Given the description of an element on the screen output the (x, y) to click on. 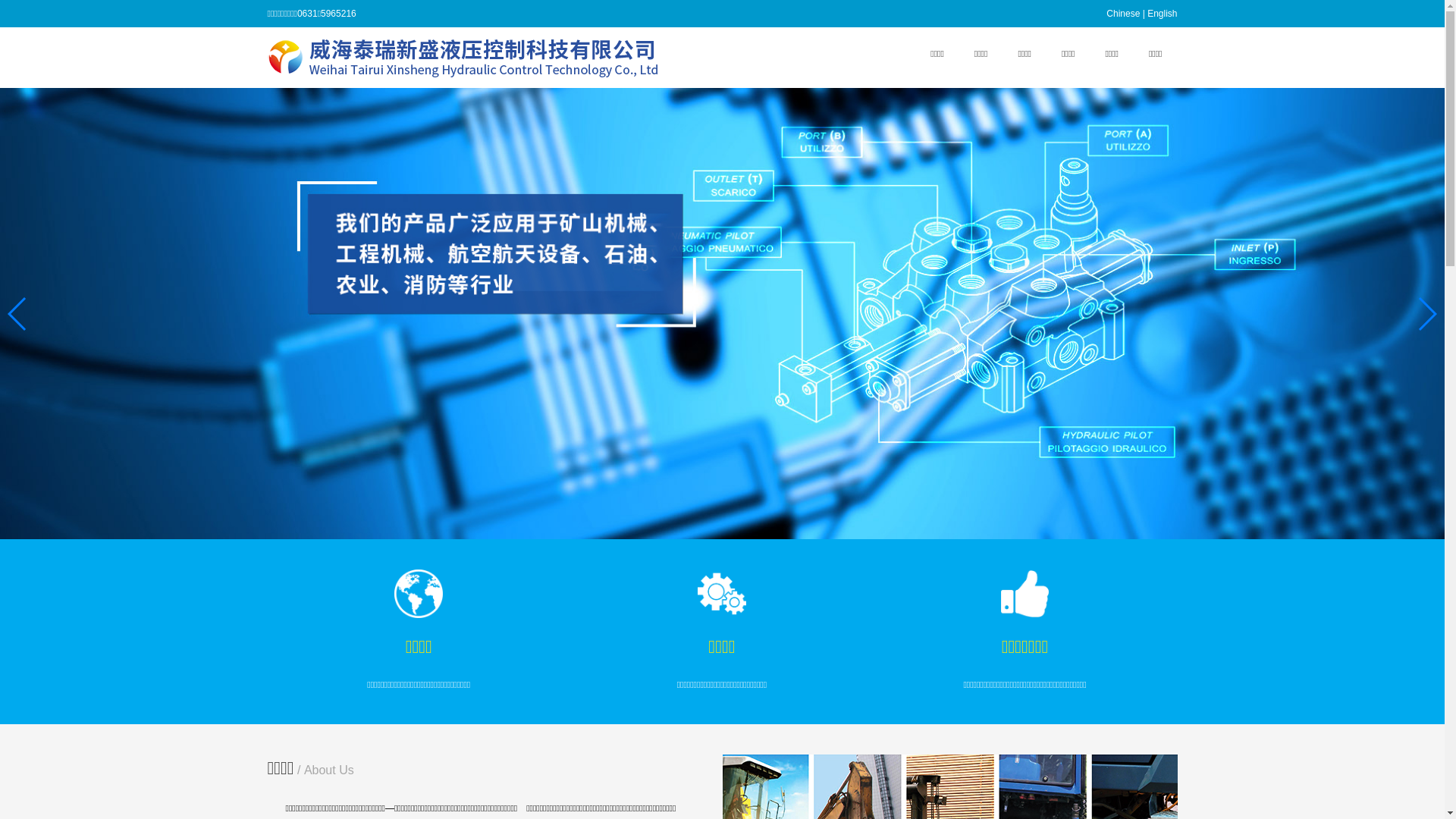
Chinese Element type: text (1122, 13)
English Element type: text (1161, 13)
